Given the description of an element on the screen output the (x, y) to click on. 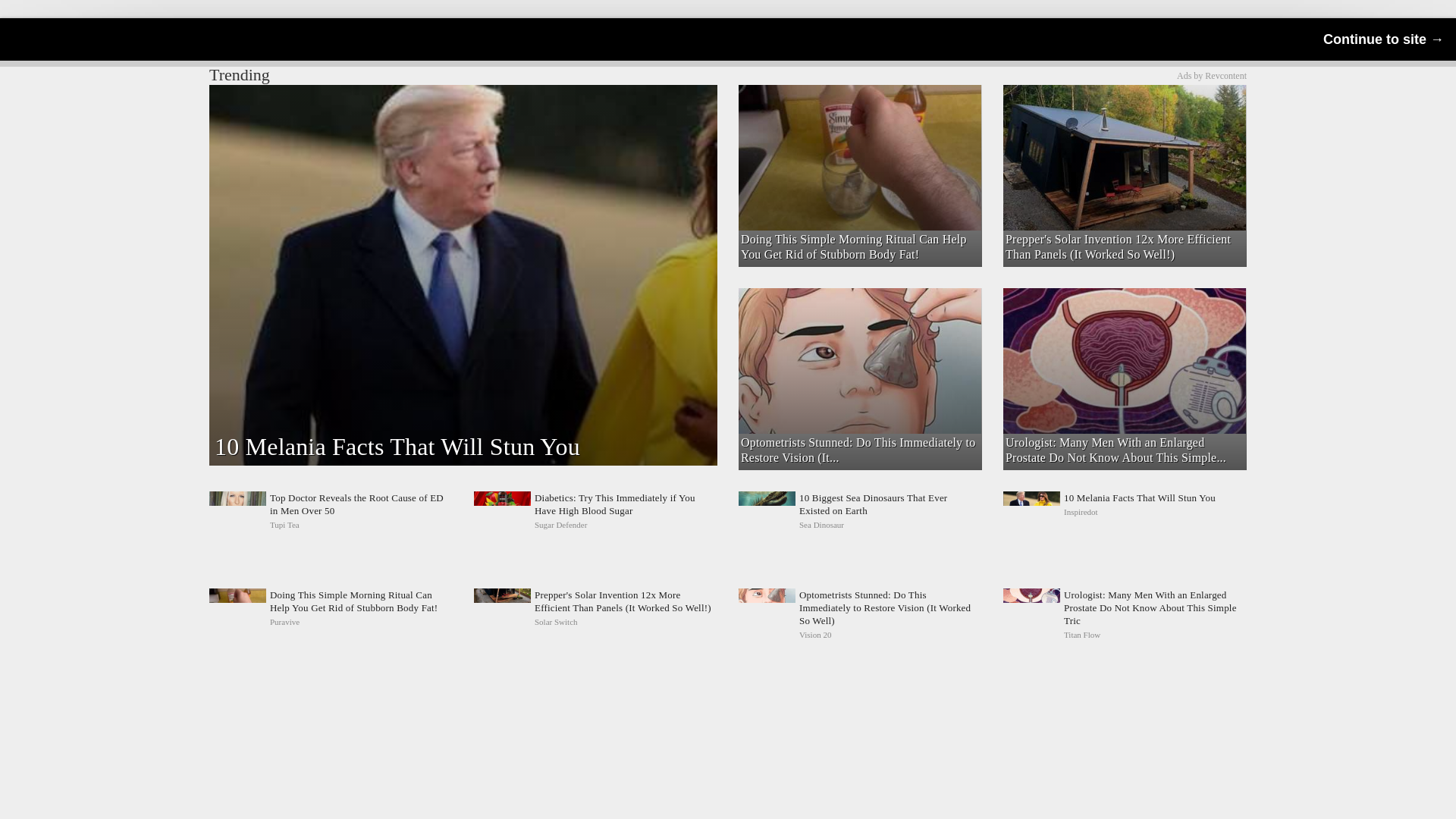
Top Doctor Reveals the Root Cause of ED in Men Over 50 (330, 510)
Ads by Revcontent (1124, 510)
10 Melania Facts That Will Stun You (1211, 75)
BIDEN FACEPLANTS (1124, 510)
